Given the description of an element on the screen output the (x, y) to click on. 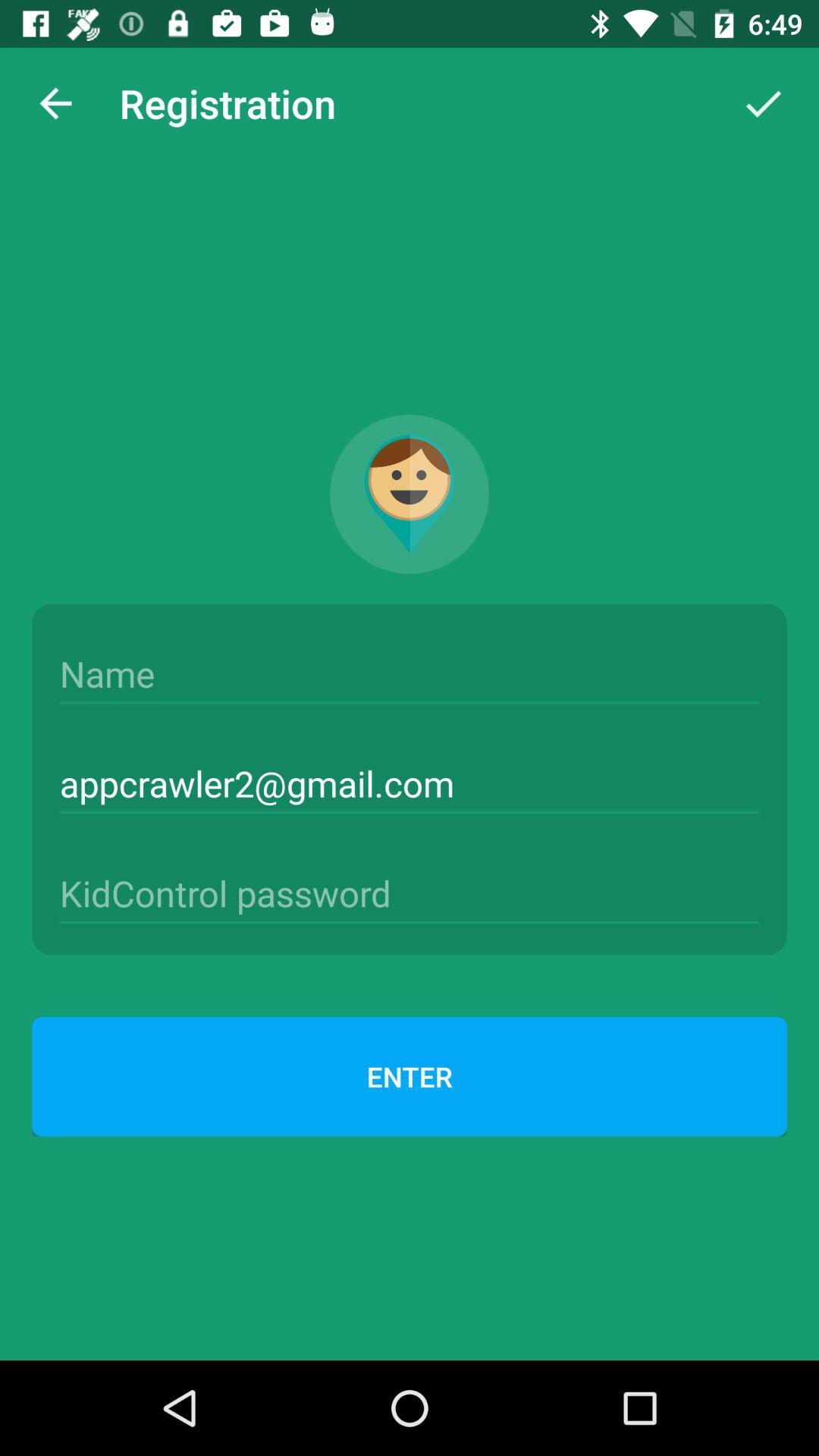
enter your username (409, 674)
